Given the description of an element on the screen output the (x, y) to click on. 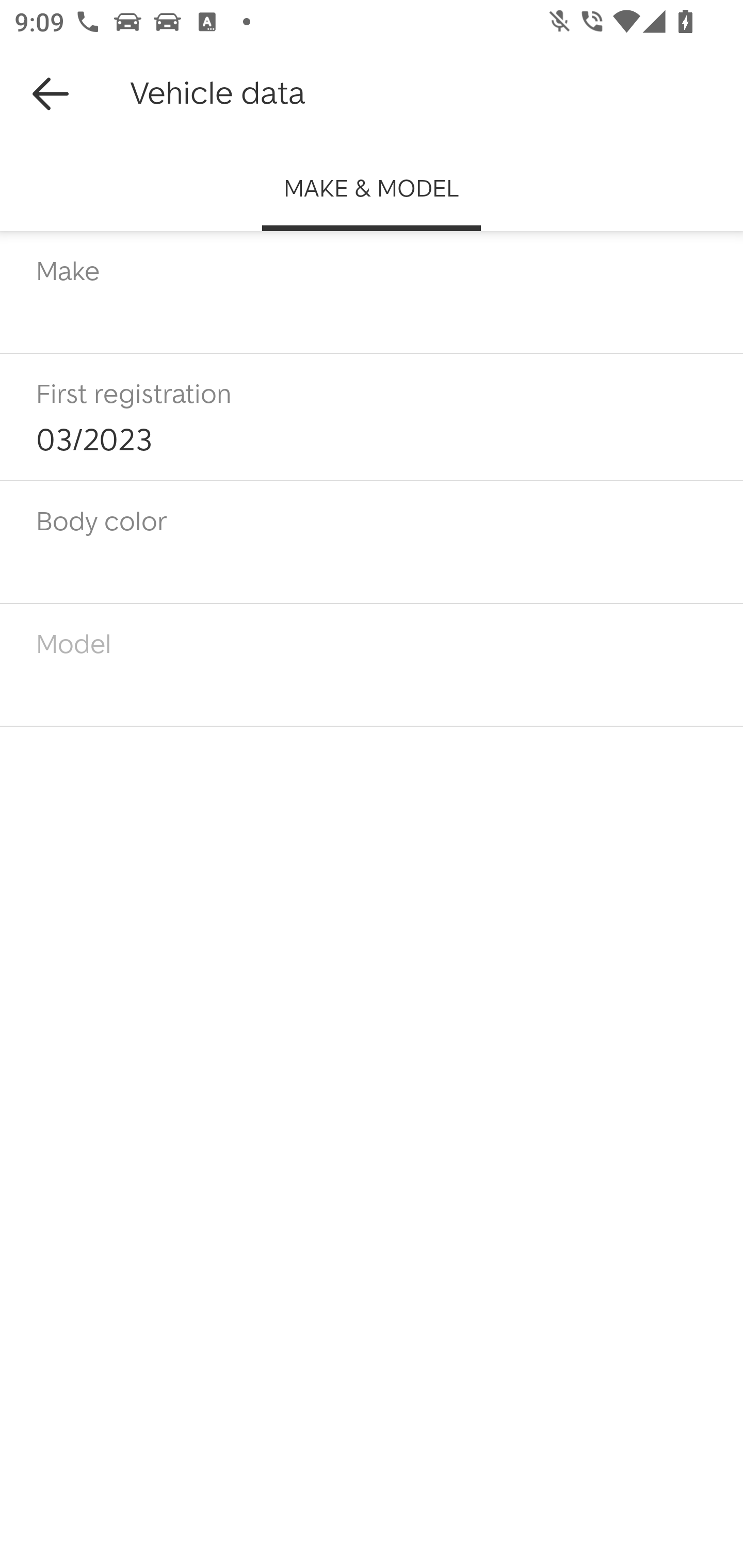
Navigate up (50, 93)
BRAND Make (371, 292)
INITIAL_REGISTRATION First registration 03/2023 (371, 417)
BODY_COLOR Body color (371, 542)
MODEL Model (371, 664)
